Given the description of an element on the screen output the (x, y) to click on. 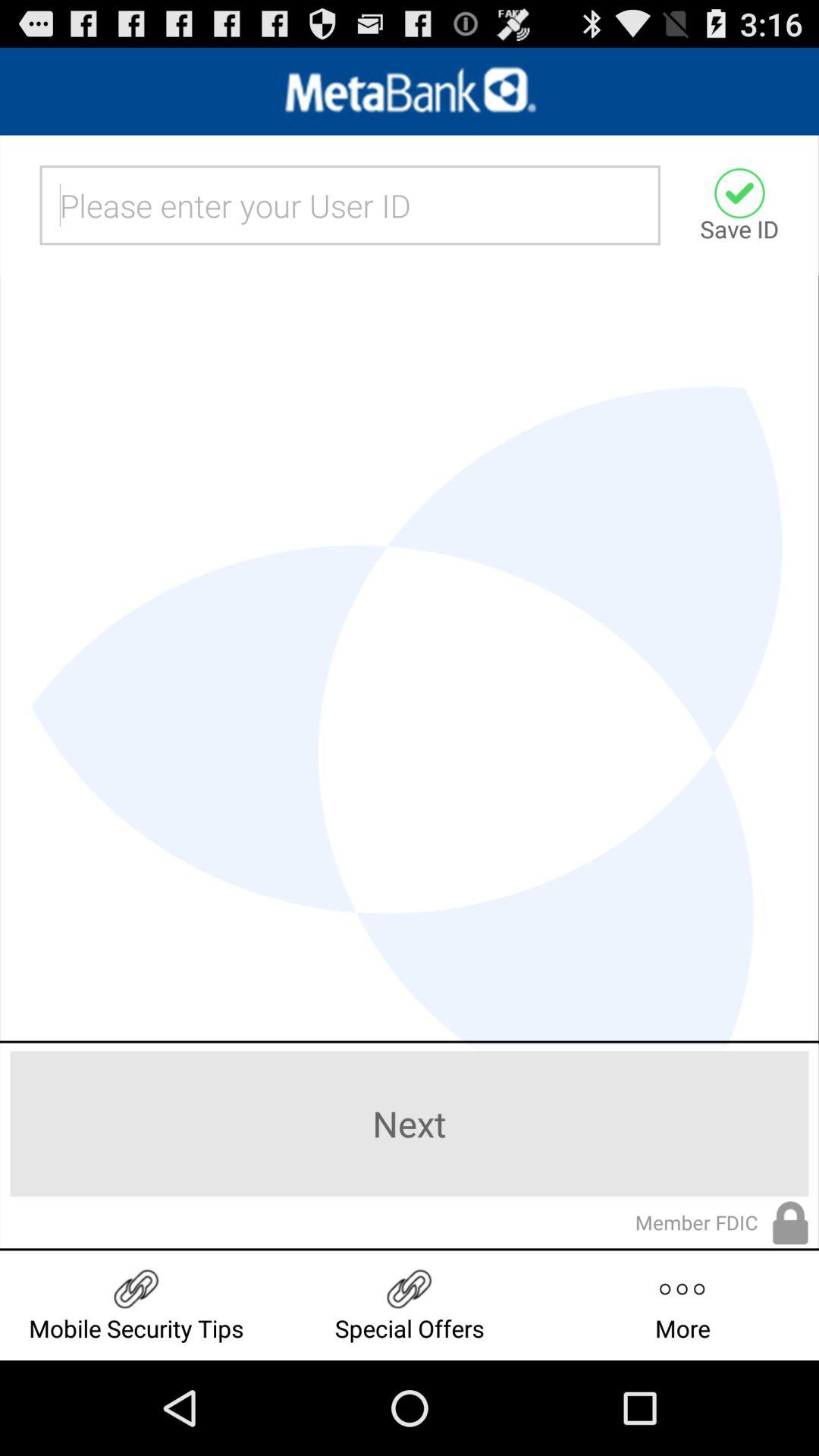
enter user id (349, 205)
